Given the description of an element on the screen output the (x, y) to click on. 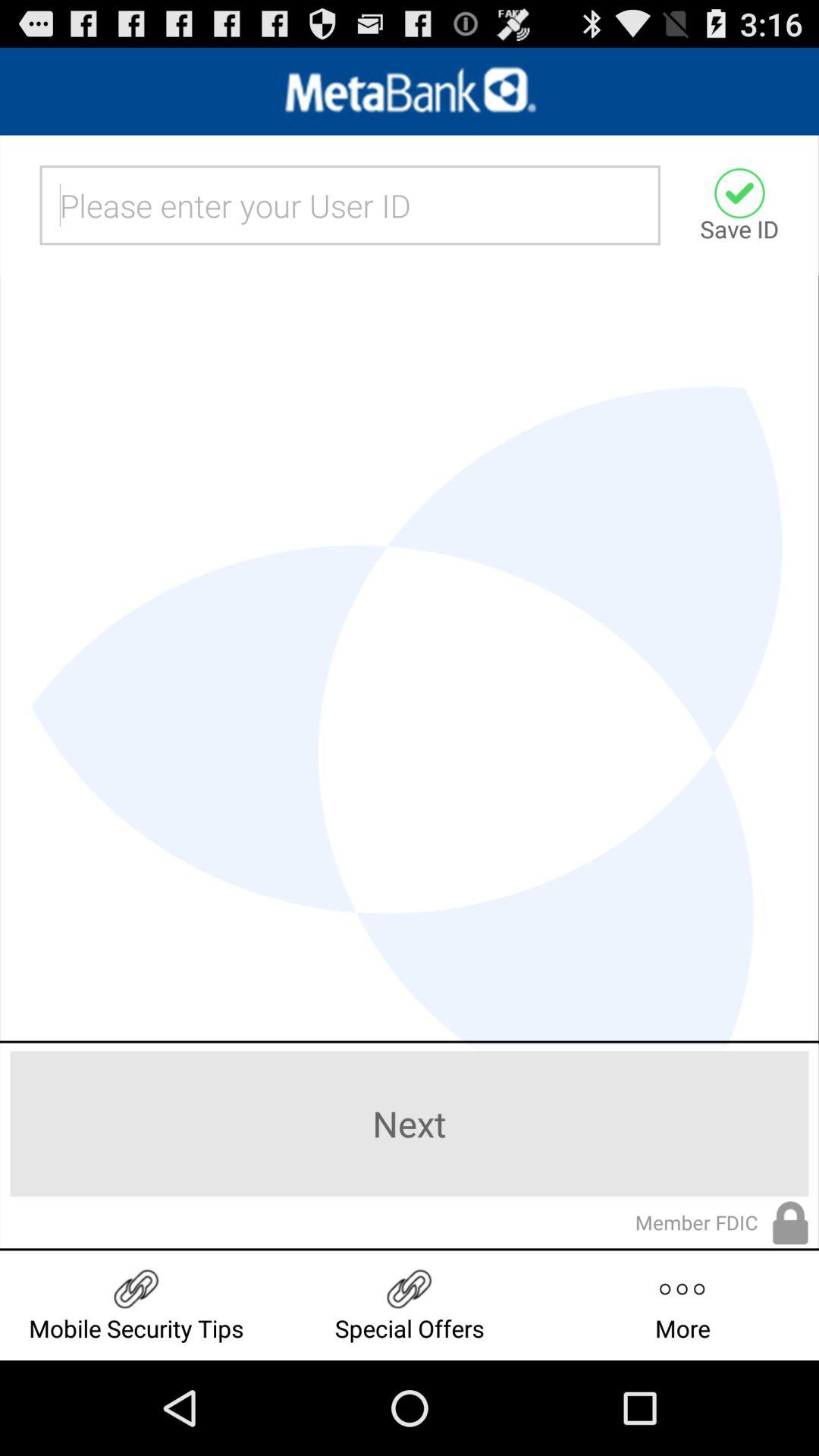
enter user id (349, 205)
